Given the description of an element on the screen output the (x, y) to click on. 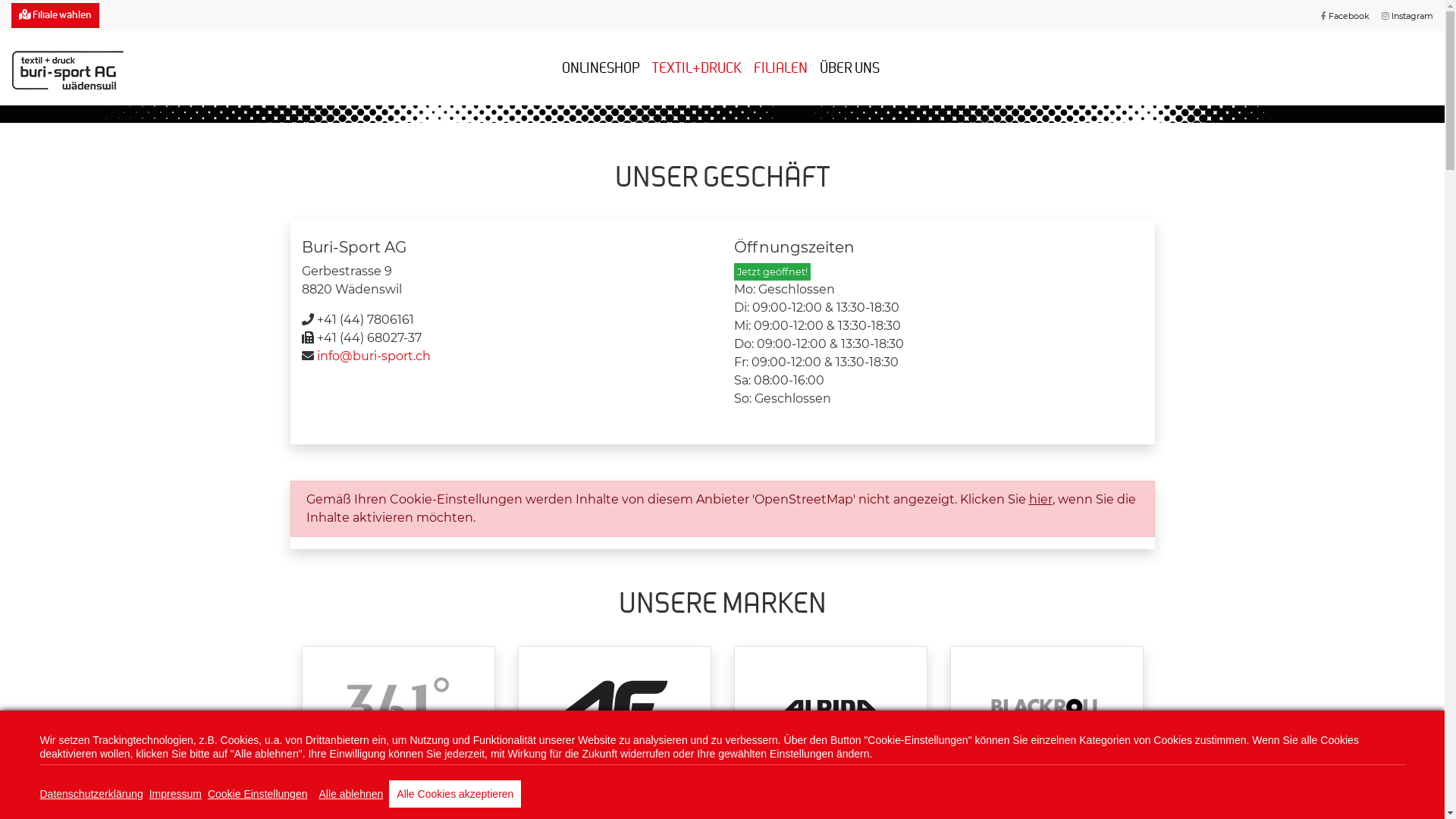
hier Element type: text (1039, 499)
Impressum Element type: text (175, 793)
Alle Cookies akzeptieren Element type: text (454, 793)
Alle ablehnen Element type: text (350, 793)
TEXTIL+DRUCK Element type: text (696, 67)
FILIALEN Element type: text (780, 67)
Startseite Element type: hover (68, 68)
info@buri-sport.ch Element type: text (373, 355)
Instagram Element type: text (1407, 15)
Cookie Einstellungen Element type: text (257, 793)
Facebook Element type: text (1345, 15)
ONLINESHOP Element type: text (600, 67)
